Given the description of an element on the screen output the (x, y) to click on. 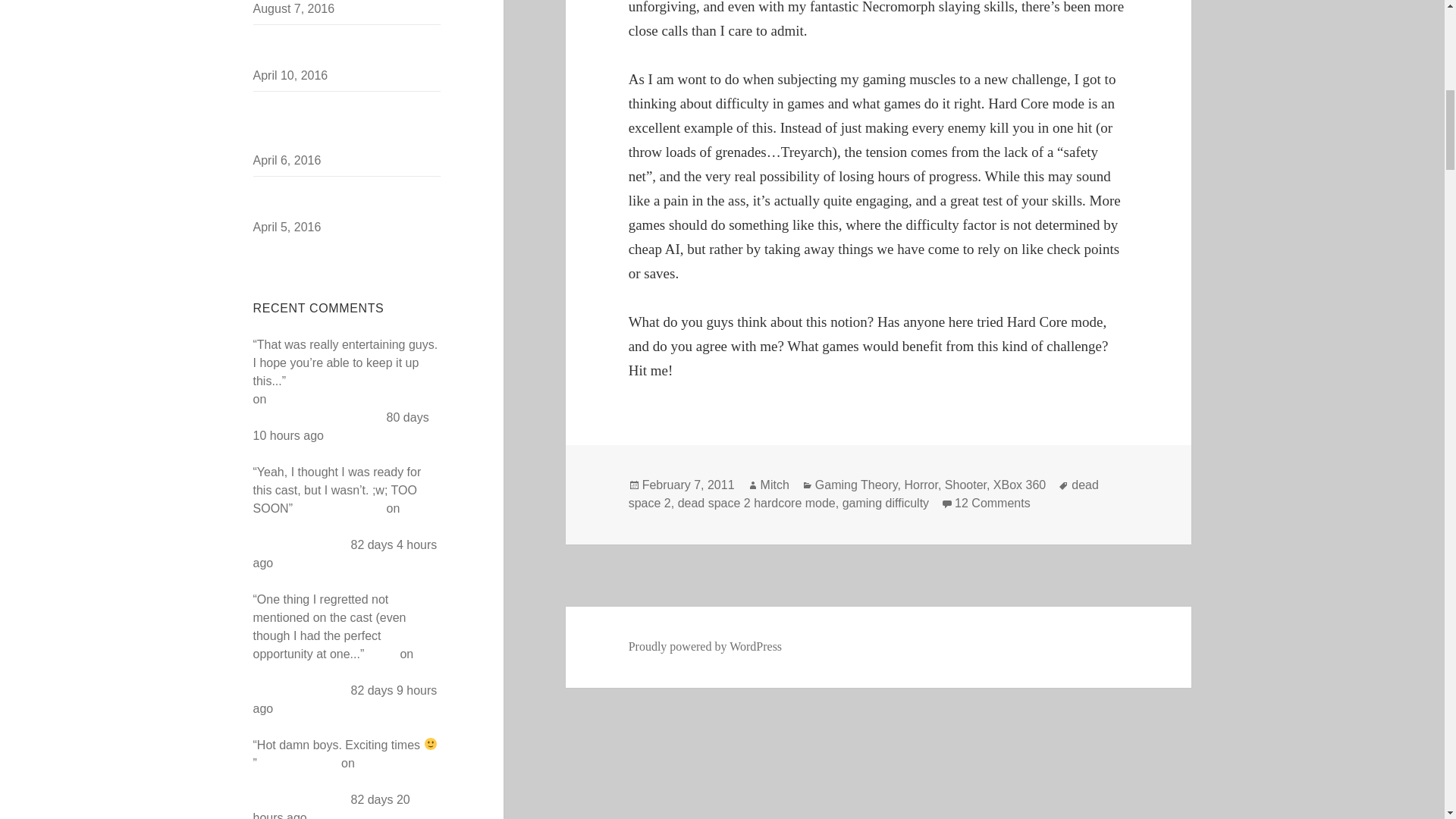
dapurplesharpie (338, 508)
The GamerSushi Show, Ep 95: Super Sushian Odyssey (344, 408)
Julez Michaud (298, 762)
The GamerSushi Show, Ep 95: Super Sushian Odyssey (345, 671)
Sunset Overdrive Scratches That Saints Row Itch (341, 199)
Mitch (382, 653)
The GamerSushi Show, Ep 95: Super Sushian Odyssey (341, 780)
The Division Delivers But Only in Fits and Starts (341, 47)
The GamerSushi Show, Ep 95: Super Sushian Odyssey (341, 526)
